Given the description of an element on the screen output the (x, y) to click on. 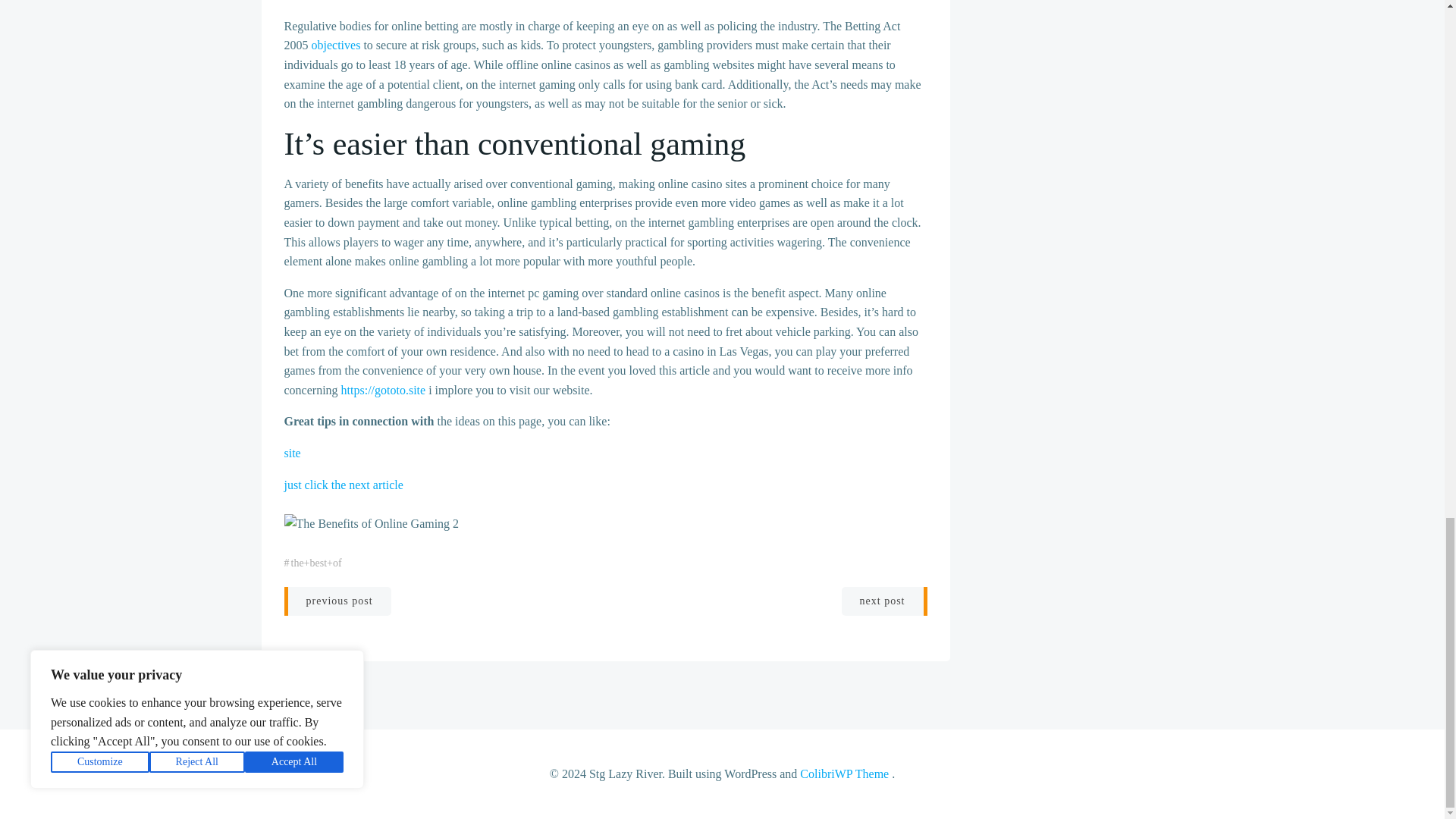
previous post (336, 601)
site (291, 452)
just click the next article (343, 484)
objectives (335, 44)
next post (884, 601)
